Given the description of an element on the screen output the (x, y) to click on. 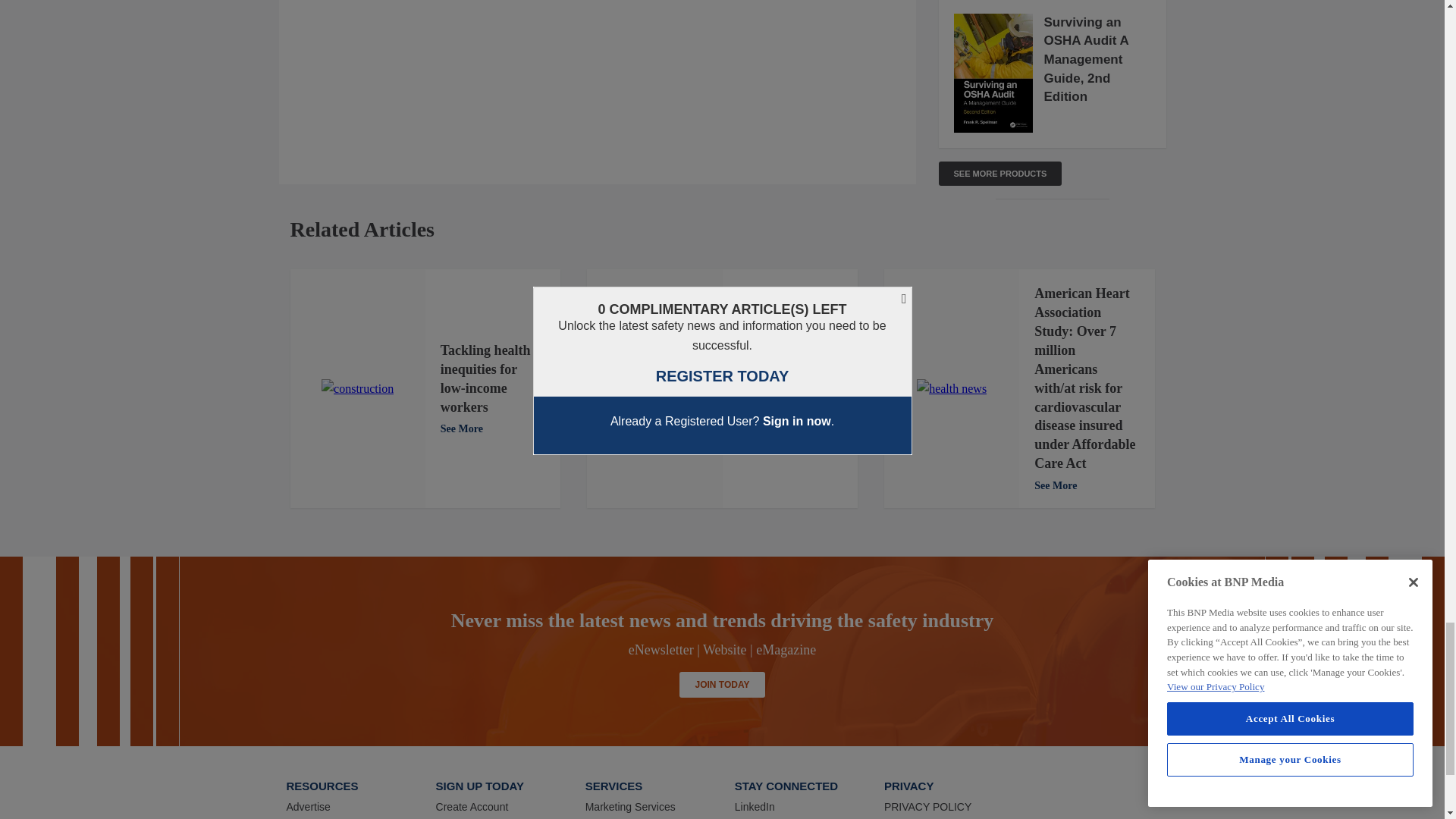
Congress (654, 388)
health news (952, 388)
construction7-422.jpg (357, 388)
